Given the description of an element on the screen output the (x, y) to click on. 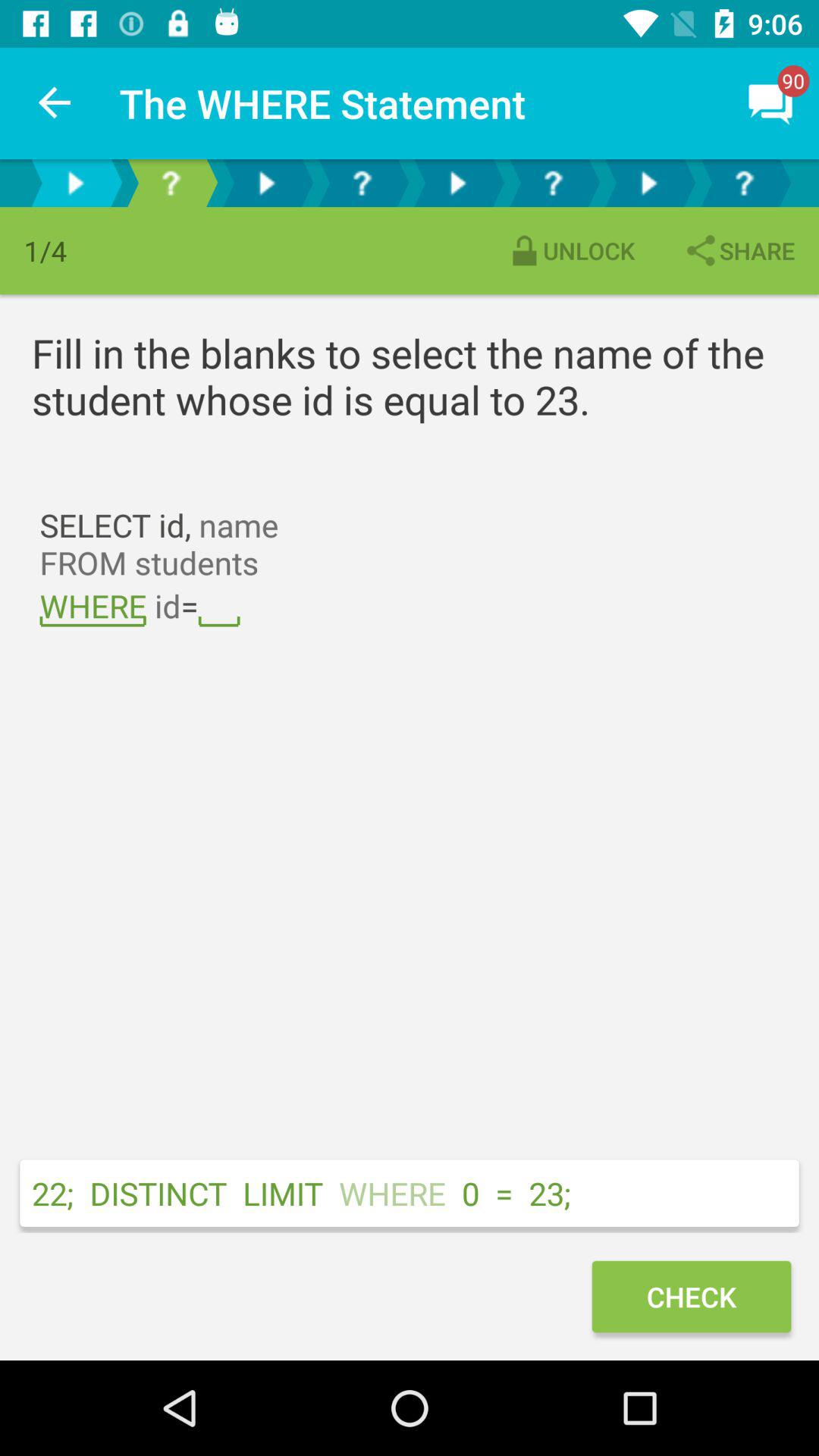
select the 2nd question mark below statement (361, 182)
go to share (739, 250)
